Given the description of an element on the screen output the (x, y) to click on. 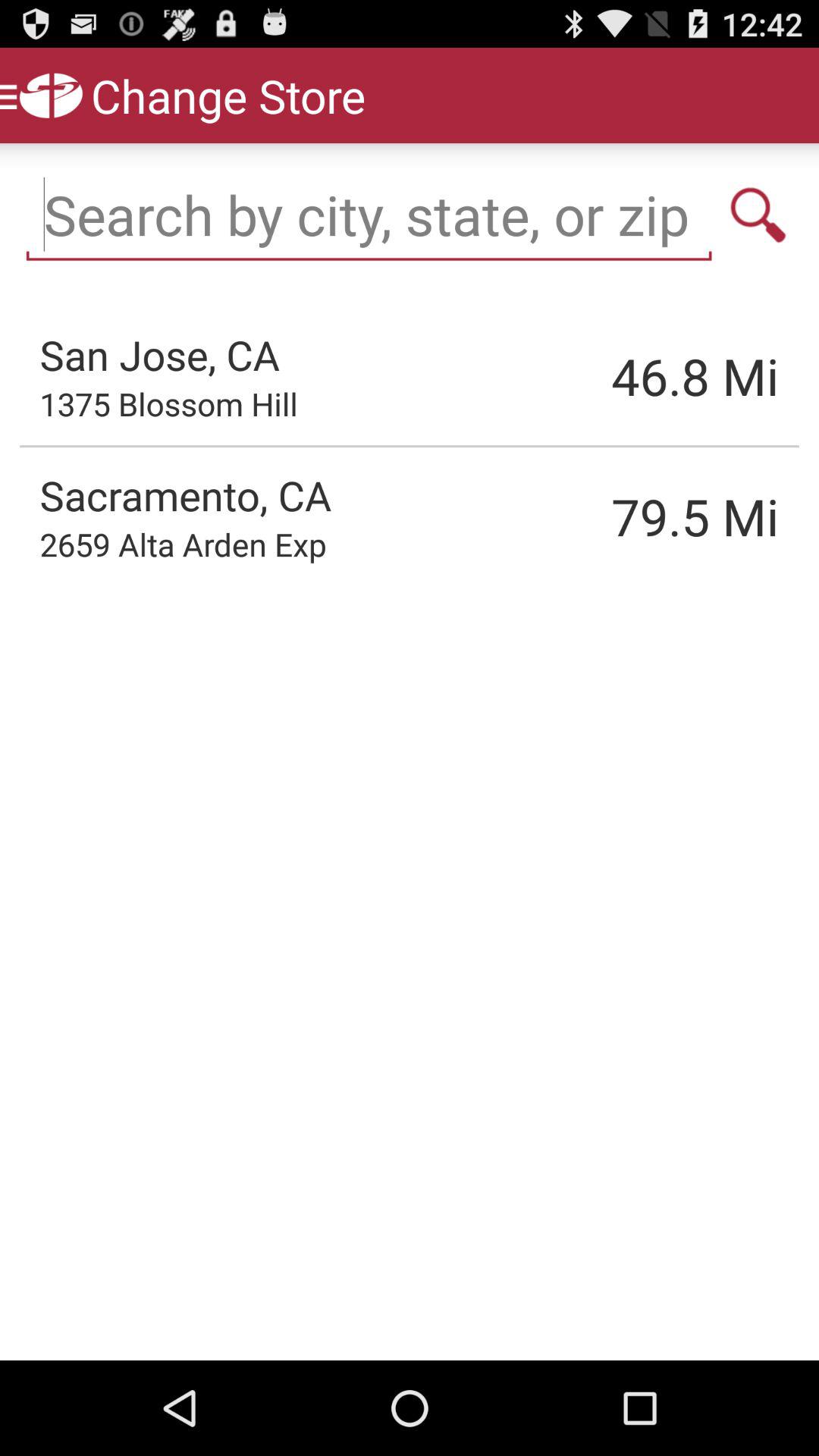
tap 46.8 item (617, 376)
